Given the description of an element on the screen output the (x, y) to click on. 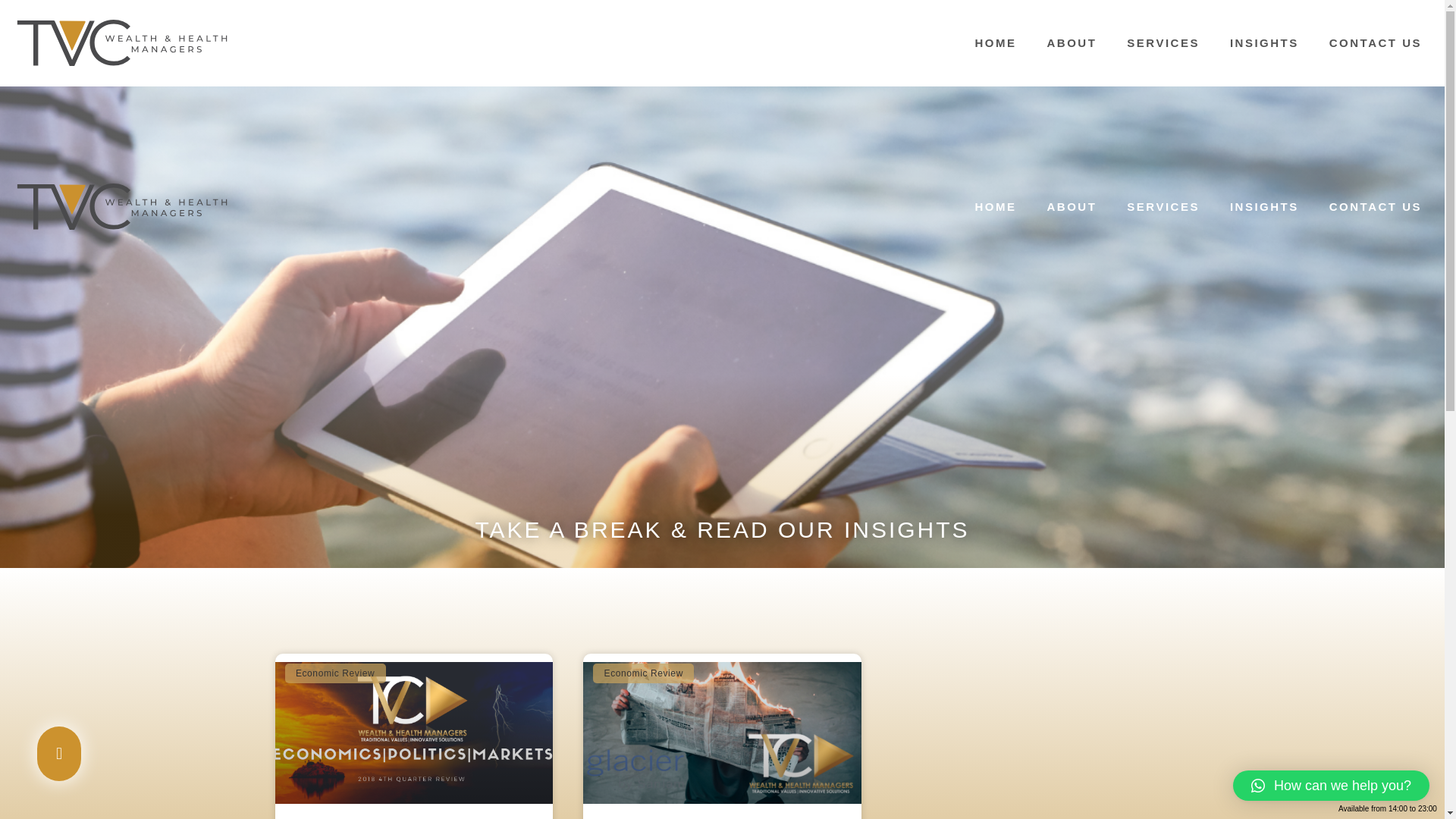
HOME (995, 42)
INSIGHTS (1264, 42)
CONTACT US (1375, 42)
SERVICES (1163, 206)
ABOUT (1071, 42)
Insights (1115, 124)
SERVICES (1163, 42)
Turkey (1161, 124)
CONTACT US (1375, 206)
ABOUT (1071, 206)
INSIGHTS (1264, 206)
HOME (995, 206)
